Given the description of an element on the screen output the (x, y) to click on. 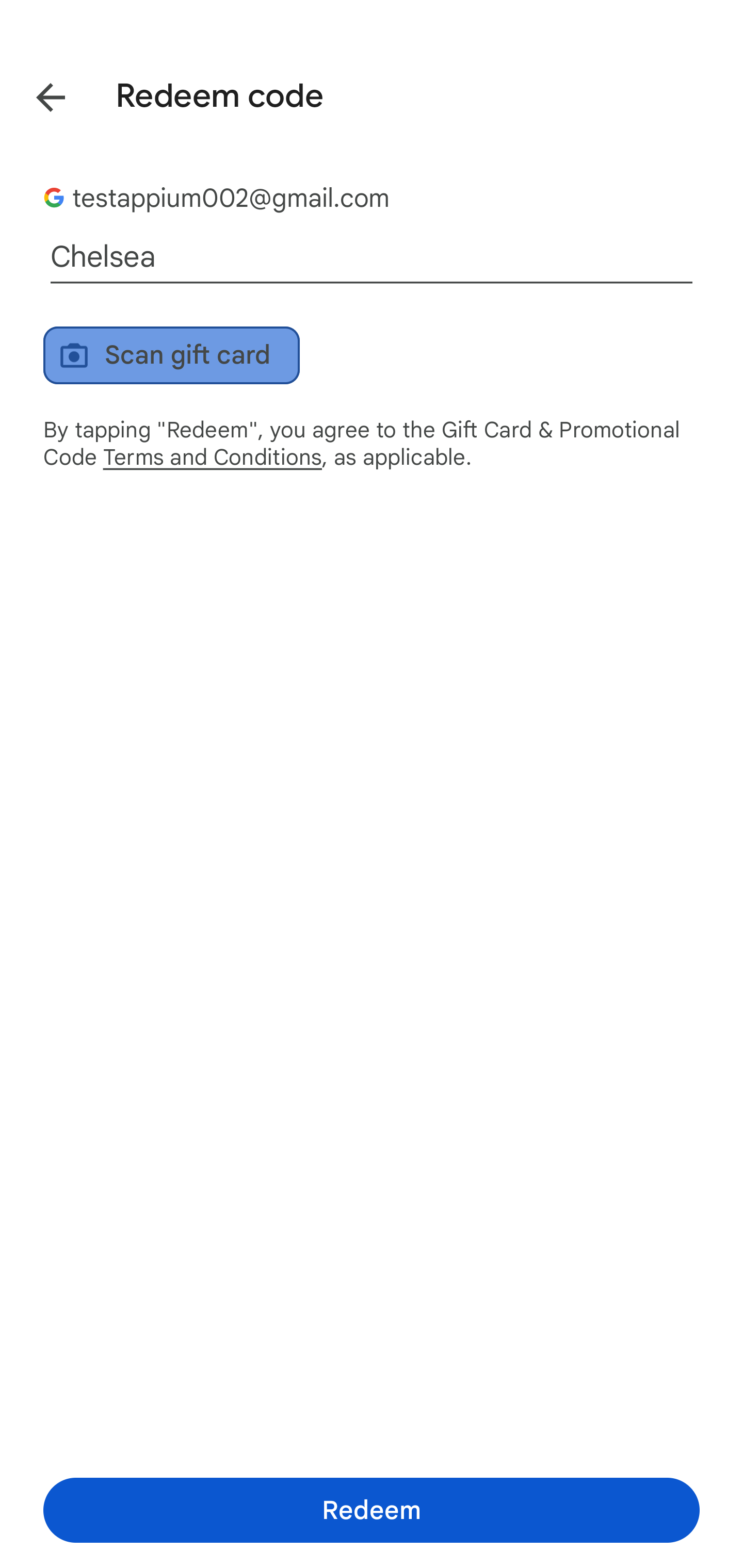
Back (36, 94)
Chelsea (371, 256)
Scan gift card (171, 355)
Redeem (371, 1509)
